Given the description of an element on the screen output the (x, y) to click on. 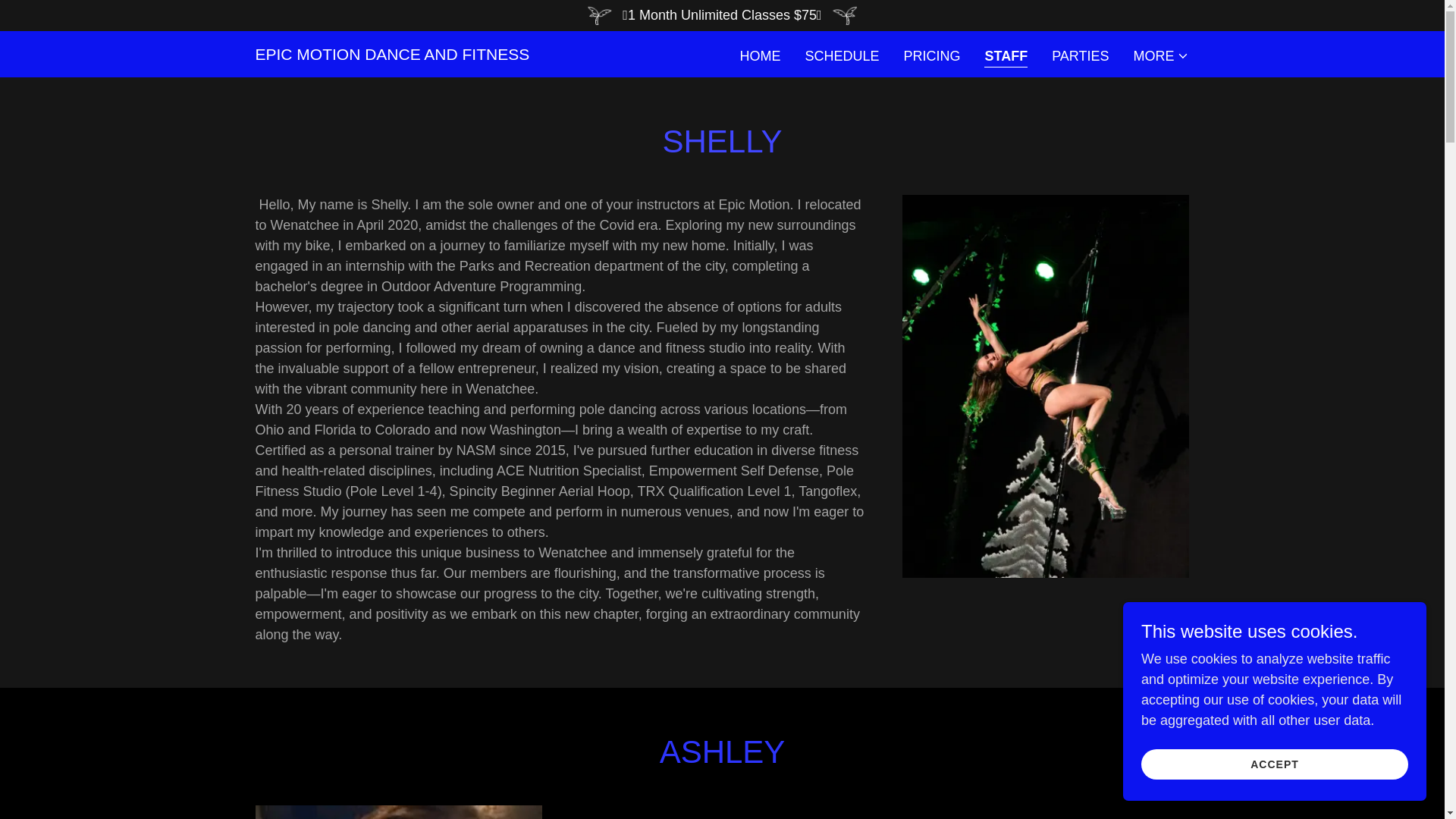
PRICING (930, 55)
Epic Motion Dance and Fitness (391, 55)
HOME (759, 55)
PARTIES (1079, 55)
SCHEDULE (841, 55)
STAFF (1005, 56)
EPIC MOTION DANCE AND FITNESS (391, 55)
MORE (1160, 55)
